Given the description of an element on the screen output the (x, y) to click on. 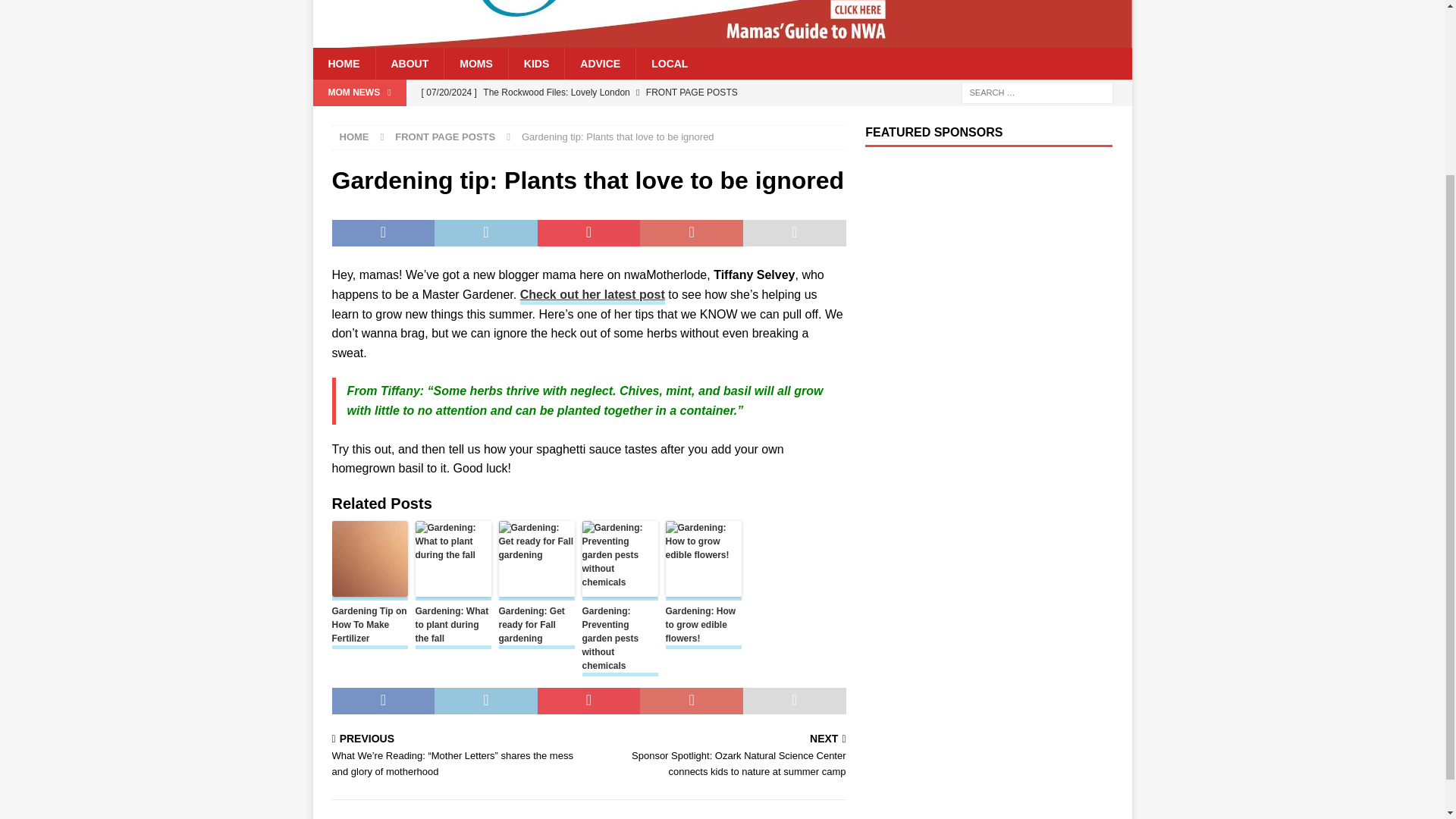
Gardening: How to grow edible flowers! (703, 626)
MOMS (476, 63)
KIDS (536, 63)
FRONT PAGE POSTS (444, 136)
HOME (343, 63)
ABOUT (409, 63)
Gardening: Get ready for Fall gardening (537, 626)
HOME (354, 136)
click to read post (592, 296)
Gardening: What to plant during the fall (453, 626)
ADVICE (599, 63)
The Rockwood Files: Lovely London (629, 92)
Gardening: Preventing garden pests without chemicals (620, 640)
Gardening Tip on How To Make Fertilizer (369, 626)
